Given the description of an element on the screen output the (x, y) to click on. 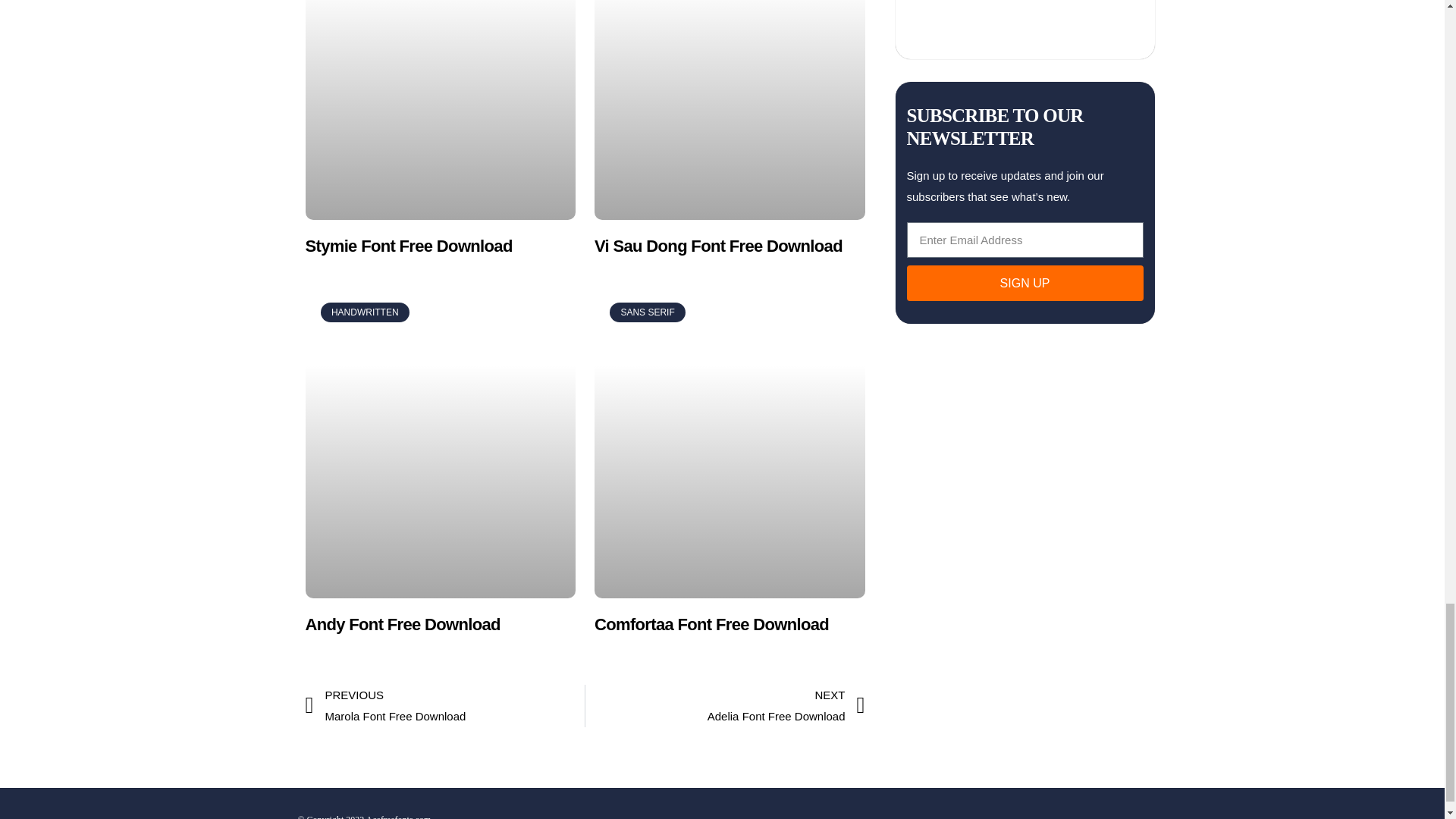
Stymie Font Free Download (408, 245)
Vi Sau Dong Font Free Download (724, 705)
Comfortaa Font Free Download (444, 705)
Andy Font Free Download (718, 245)
